Given the description of an element on the screen output the (x, y) to click on. 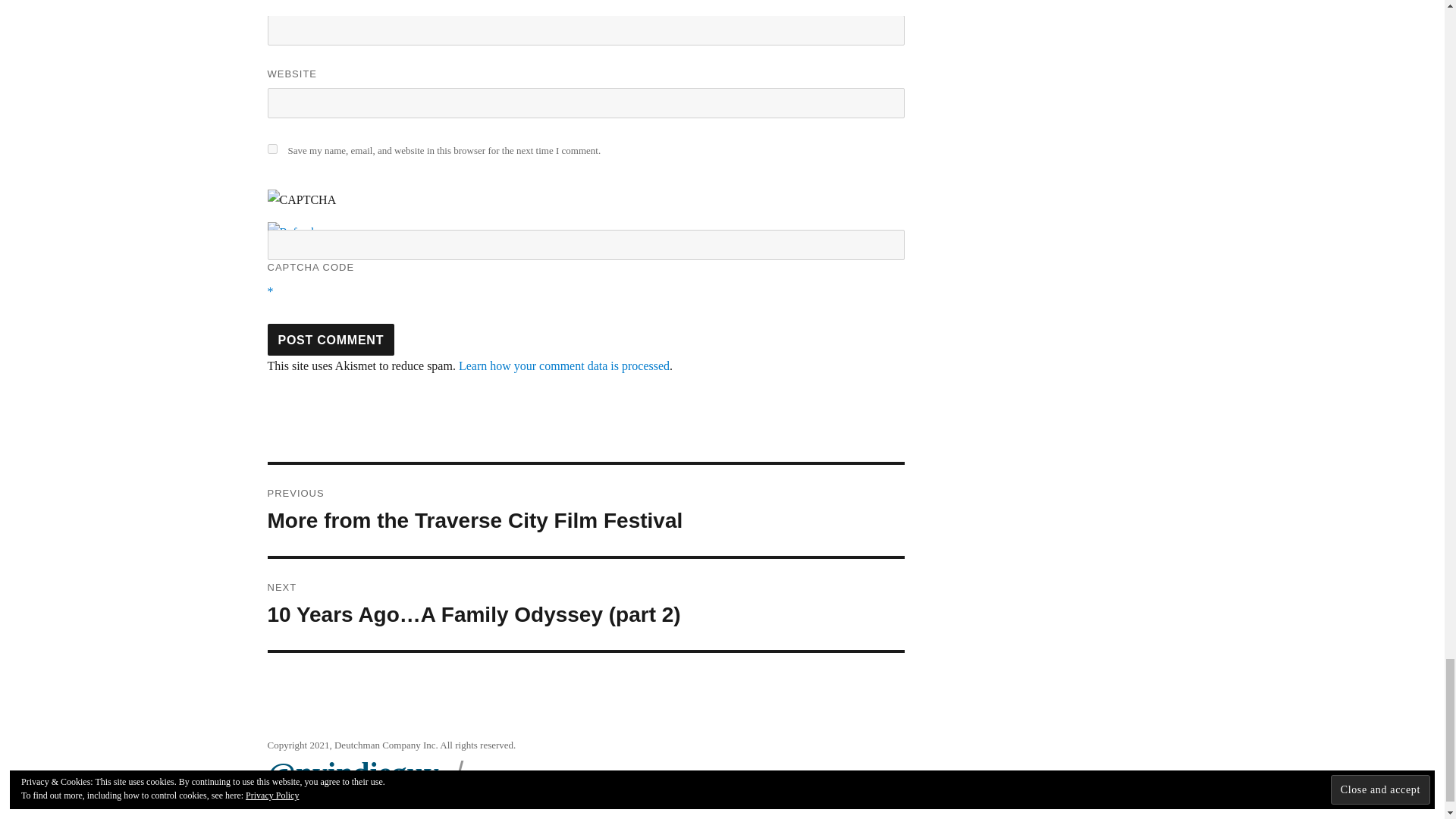
Post Comment (330, 339)
Refresh (291, 232)
yes (271, 148)
CAPTCHA (316, 205)
